Given the description of an element on the screen output the (x, y) to click on. 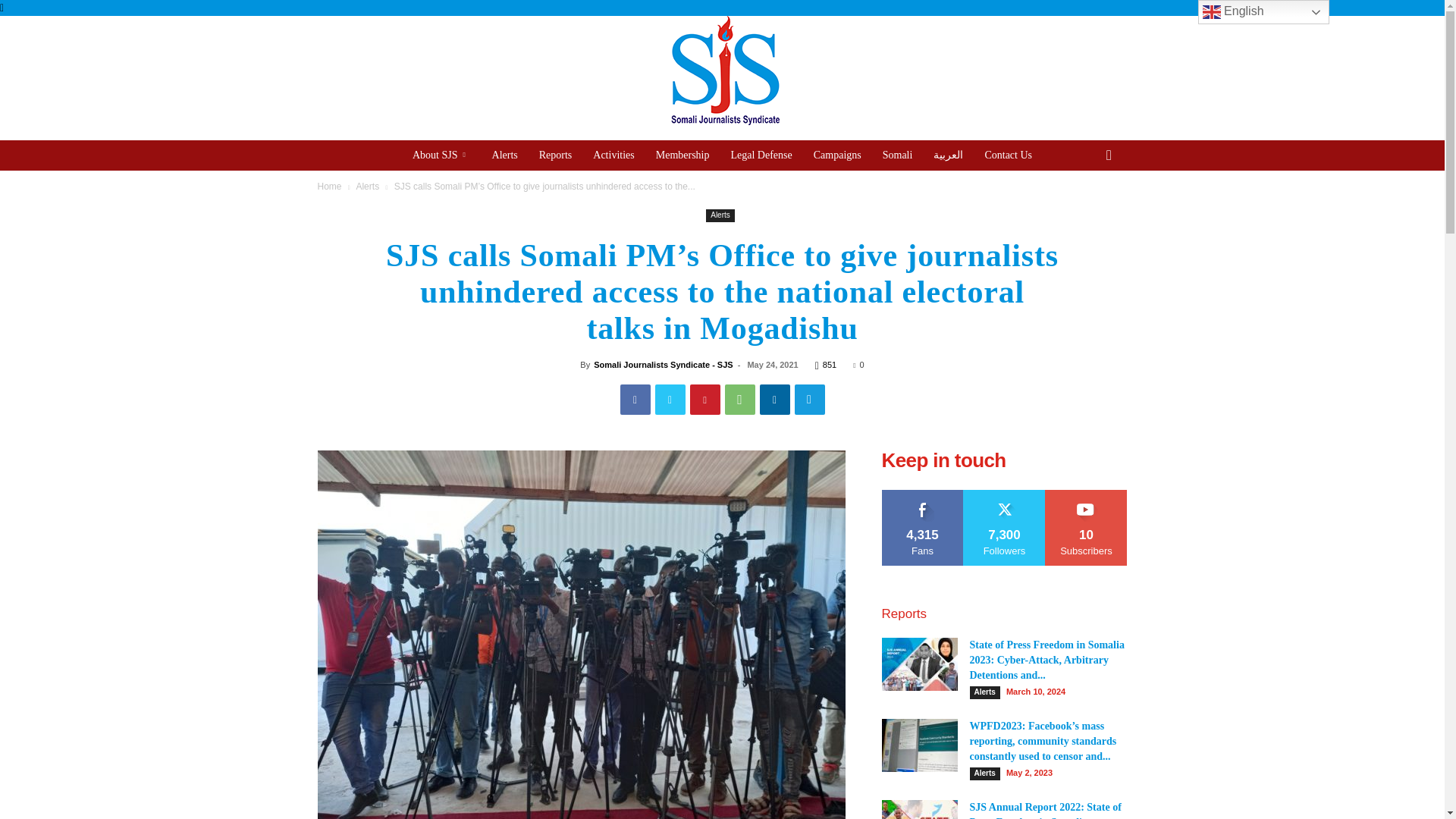
Contact Us (1008, 155)
Linkedin (775, 399)
Telegram (809, 399)
Somali Journalists Syndicate - SJS (663, 364)
Legal Defense (761, 155)
View all posts in Alerts (366, 185)
Reports (555, 155)
Facebook (635, 399)
Twitter (670, 399)
Pinterest (705, 399)
About SJS (441, 155)
Membership (682, 155)
WhatsApp (740, 399)
Somali (897, 155)
